Given the description of an element on the screen output the (x, y) to click on. 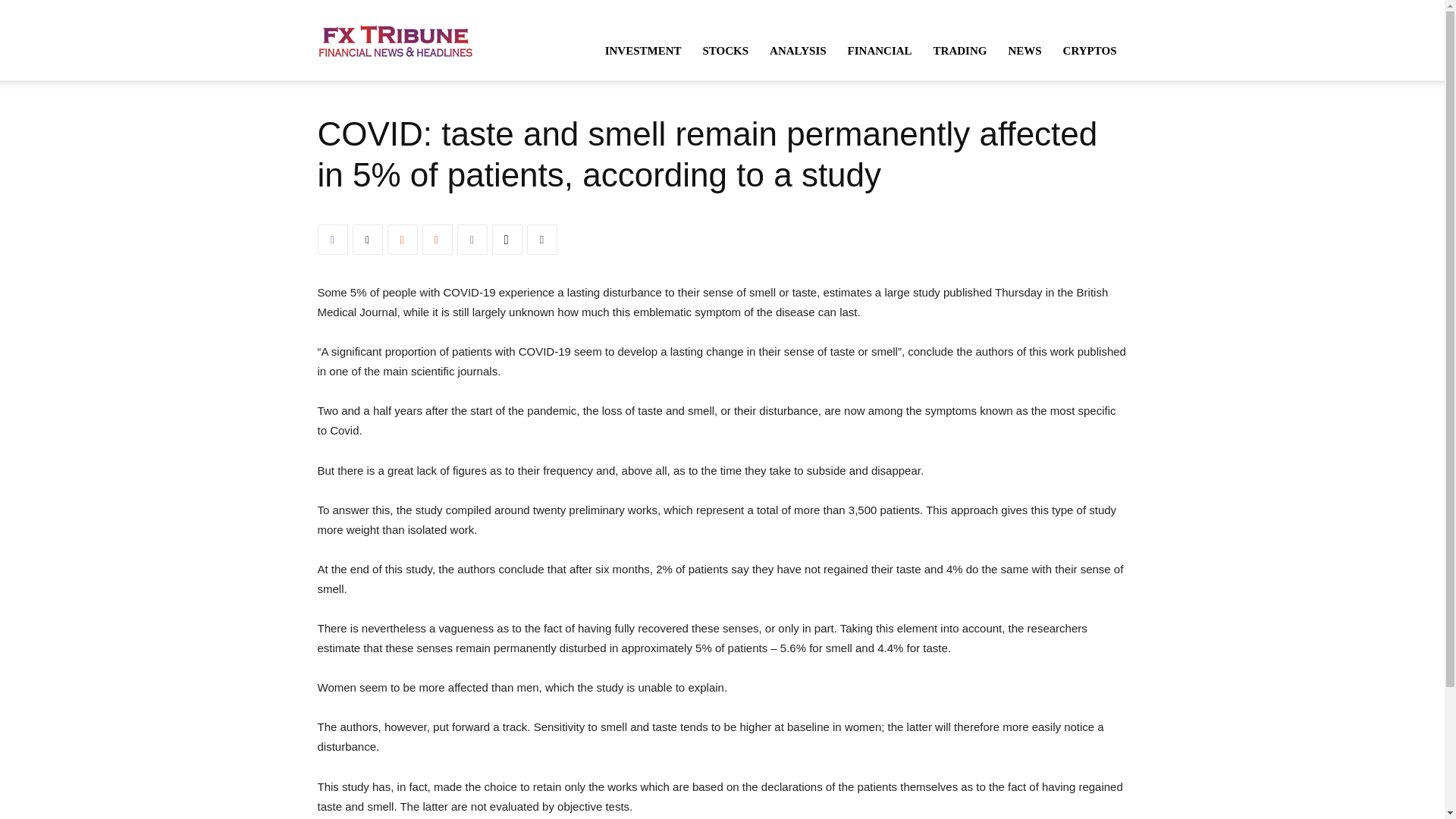
TRADING (960, 50)
Digg (506, 239)
Financial Headlines (395, 39)
Twitter (366, 239)
STOCKS (724, 50)
Print (540, 239)
CRYPTOS (1089, 50)
FINANCIAL (880, 50)
Tumblr (471, 239)
Facebook (332, 239)
